Given the description of an element on the screen output the (x, y) to click on. 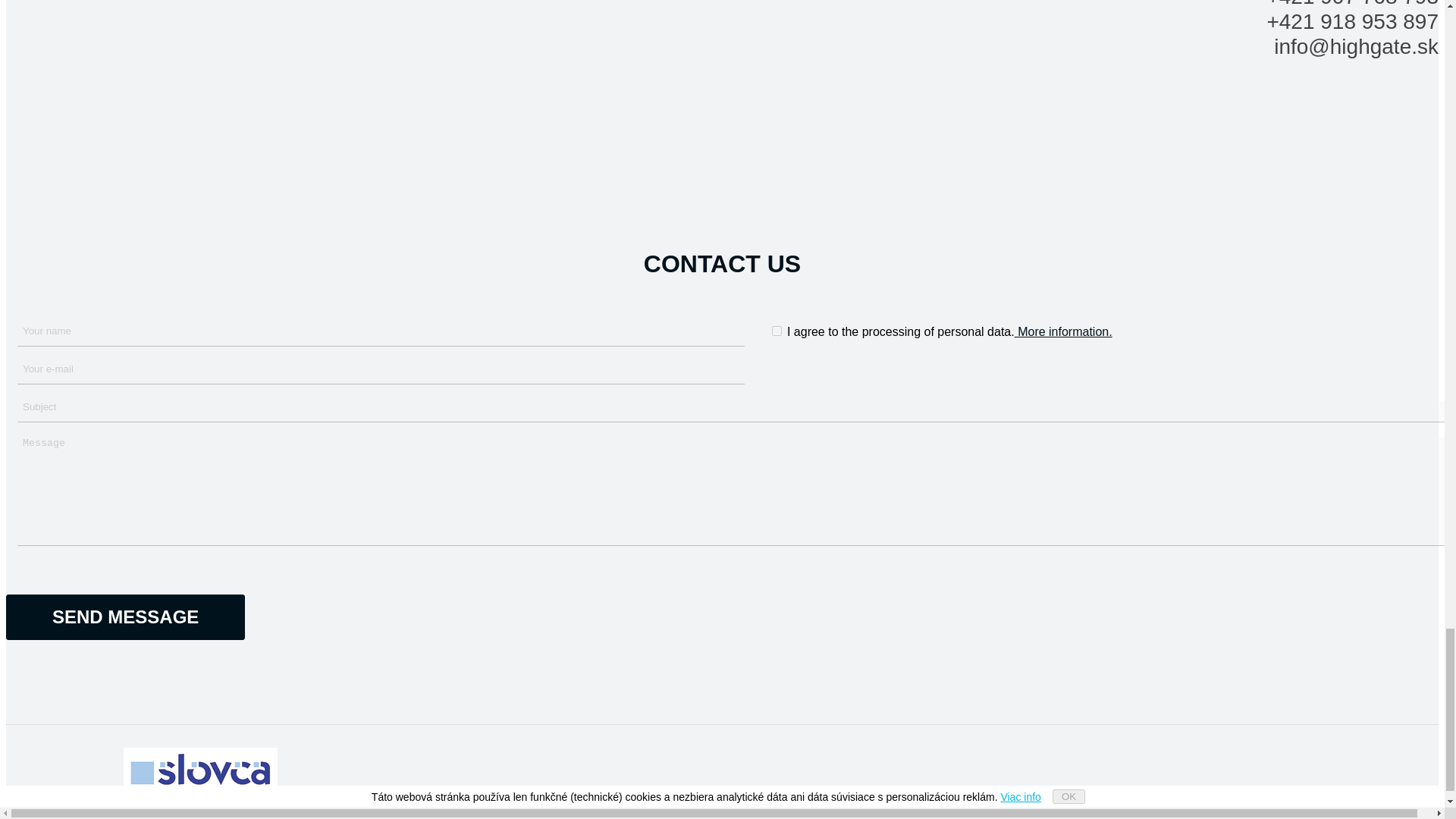
Send message (124, 616)
1 (776, 330)
More information. (1063, 331)
Data Protection (46, 794)
Send message (124, 616)
